Given the description of an element on the screen output the (x, y) to click on. 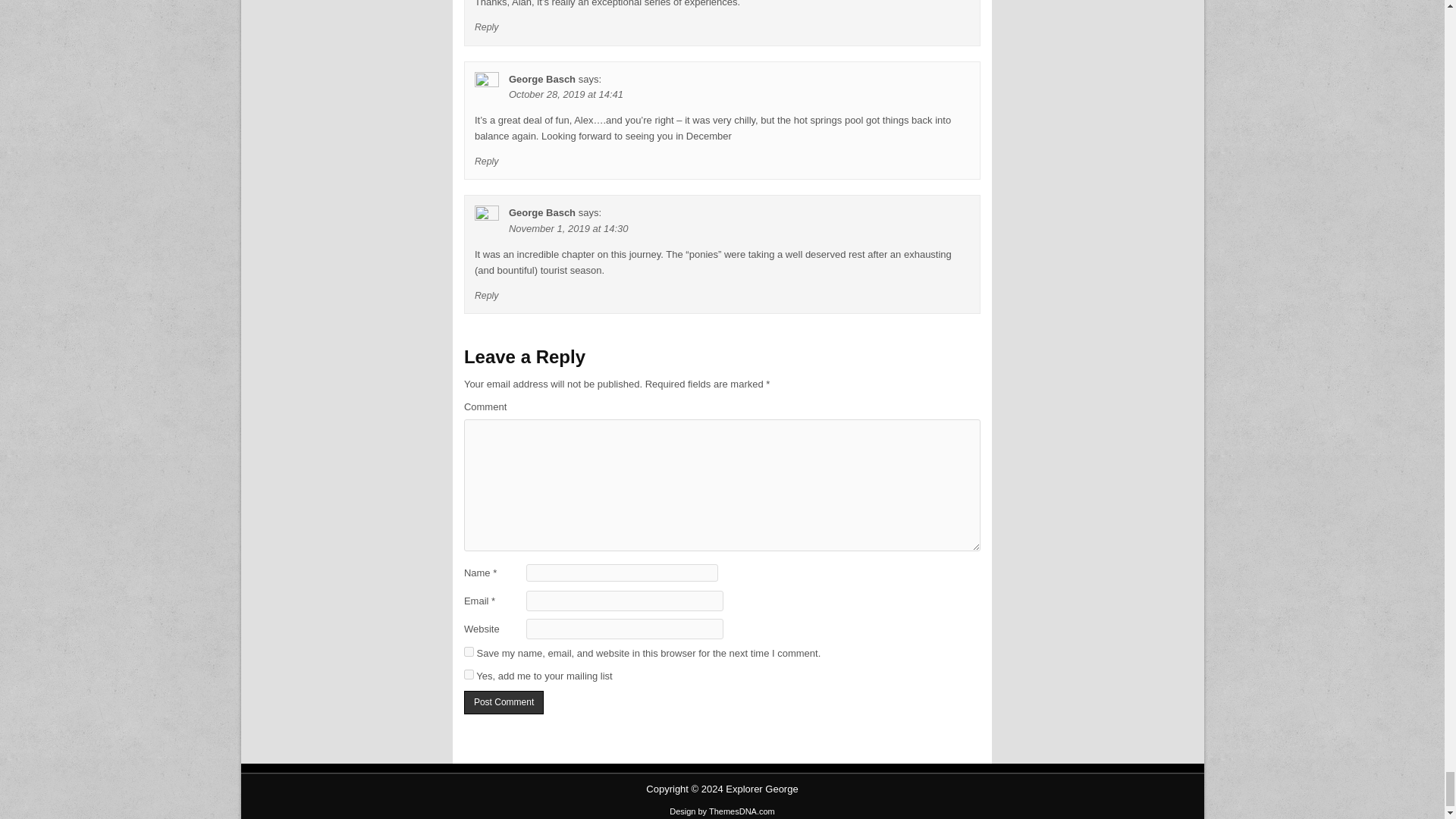
Reply (486, 161)
Reply (486, 295)
October 28, 2019 at 14:41 (565, 93)
November 1, 2019 at 14:30 (568, 228)
Reply (486, 27)
1 (469, 673)
yes (469, 651)
Post Comment (503, 702)
Post Comment (503, 702)
